Given the description of an element on the screen output the (x, y) to click on. 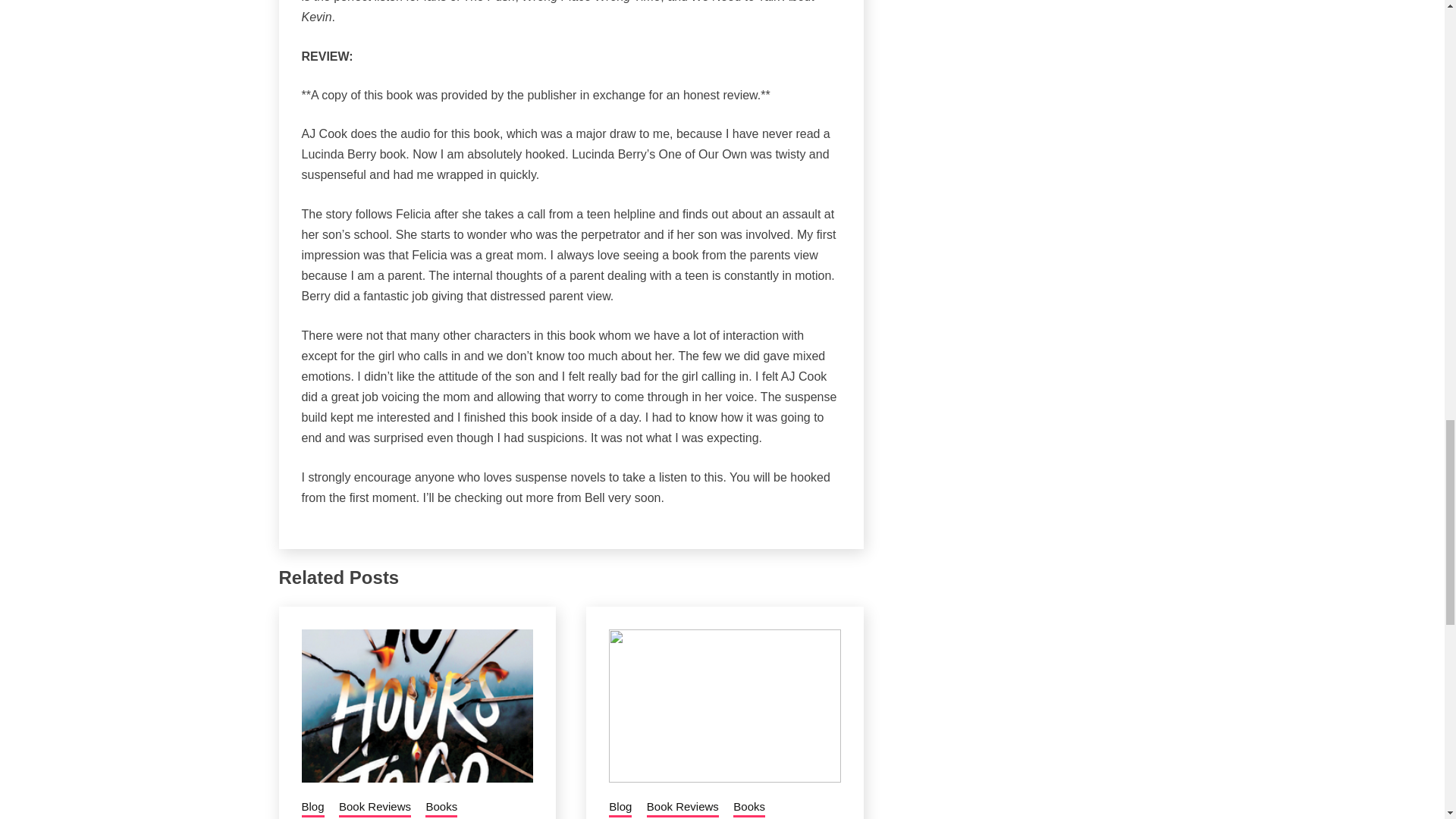
Blog (312, 808)
Books (441, 808)
Book Reviews (374, 808)
